Given the description of an element on the screen output the (x, y) to click on. 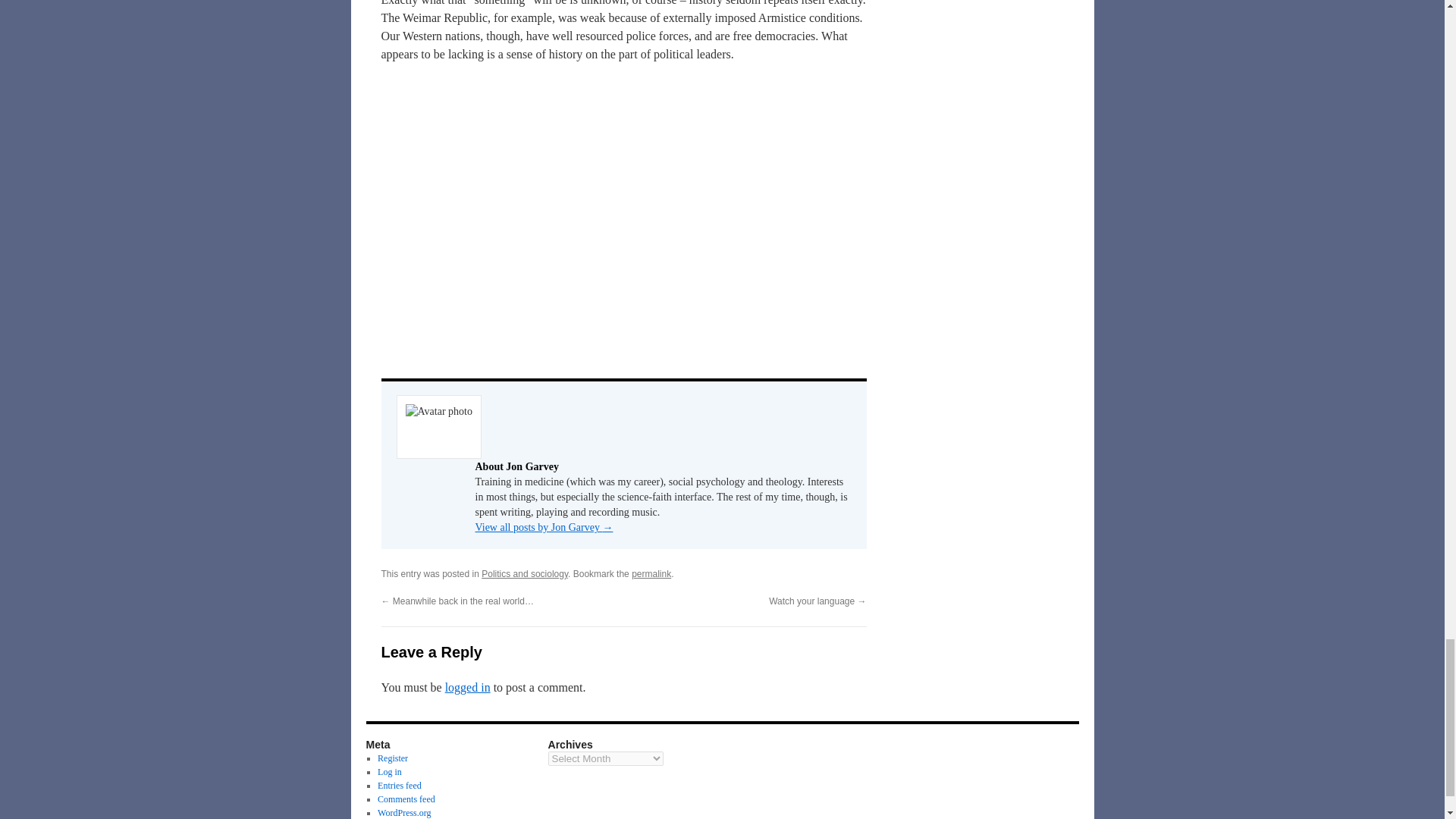
logged in (467, 686)
permalink (651, 573)
Permalink to Signs of weak nations (651, 573)
Politics and sociology (524, 573)
